Given the description of an element on the screen output the (x, y) to click on. 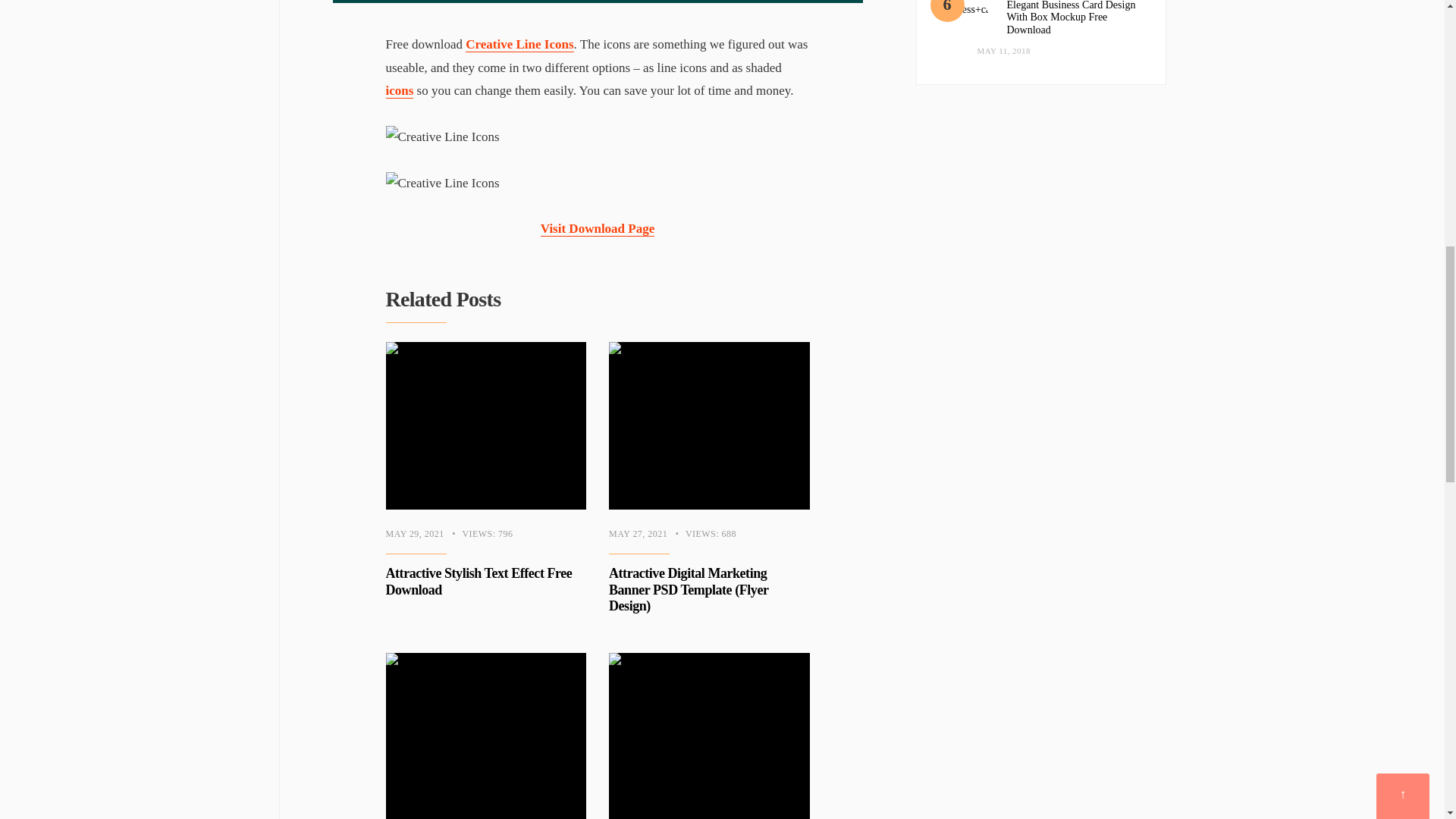
Creative Line Icons (519, 44)
Creative Line Icons (597, 137)
Visit Download Page (597, 228)
Creative Line Icons (597, 183)
icons (399, 90)
Elegant Business Card Design With Box Mockup Free Download (963, 20)
